Given the description of an element on the screen output the (x, y) to click on. 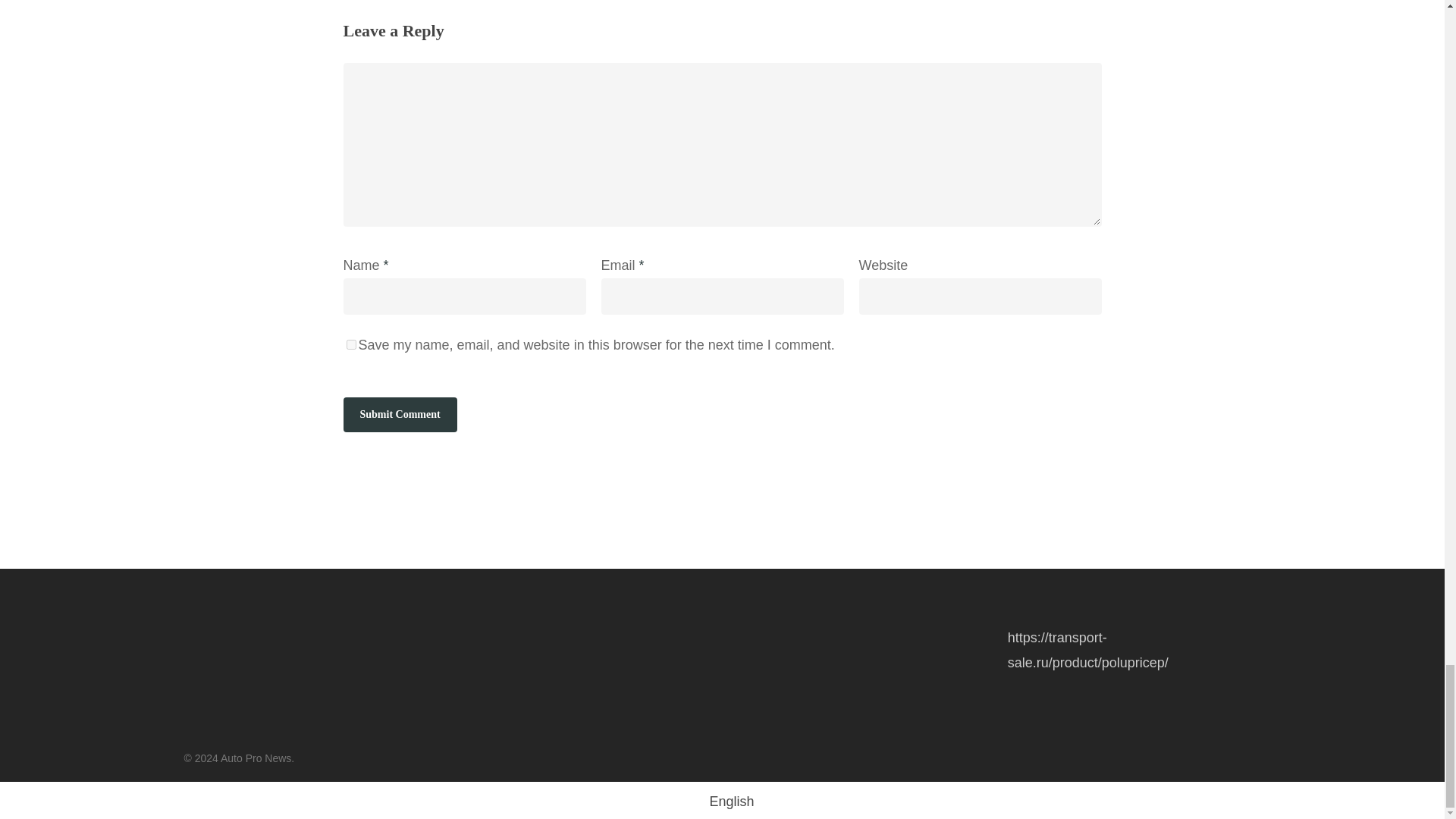
yes (350, 344)
Submit Comment (399, 414)
